Given the description of an element on the screen output the (x, y) to click on. 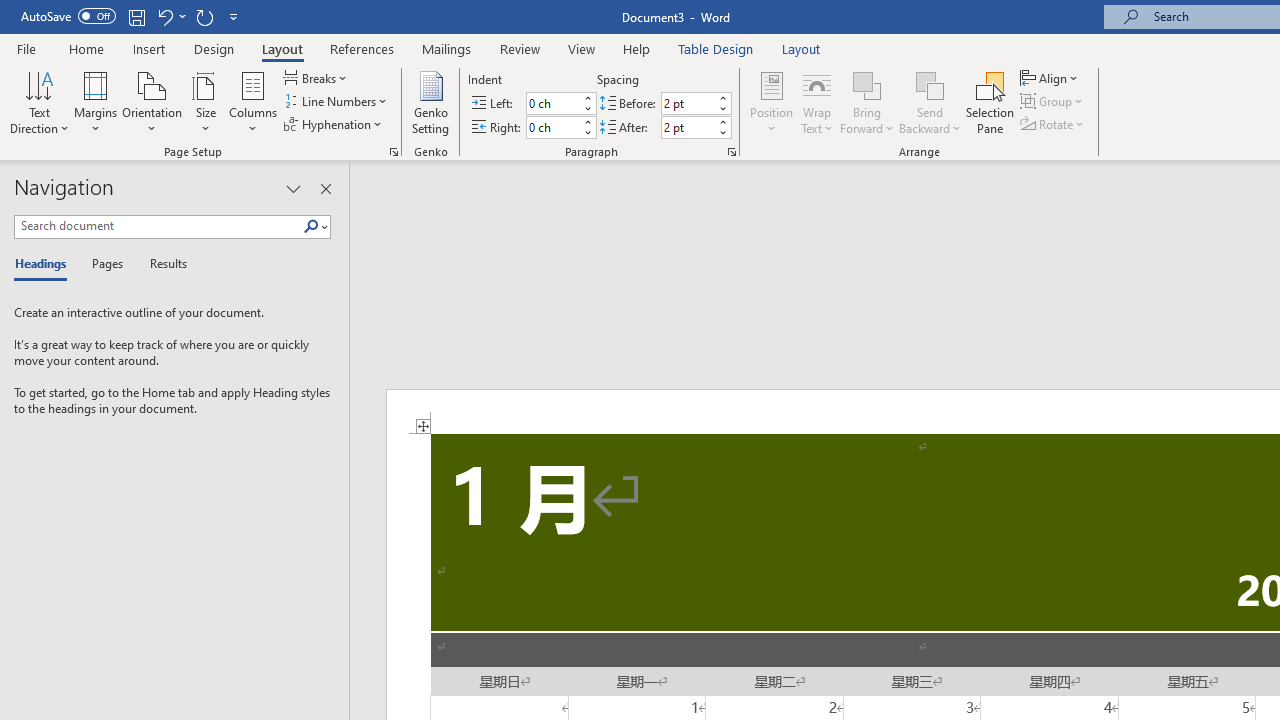
Indent Left (552, 103)
Line Numbers (337, 101)
Selection Pane... (990, 102)
Position (771, 102)
Less (722, 132)
Spacing Before (687, 103)
Undo Increase Indent (170, 15)
